Given the description of an element on the screen output the (x, y) to click on. 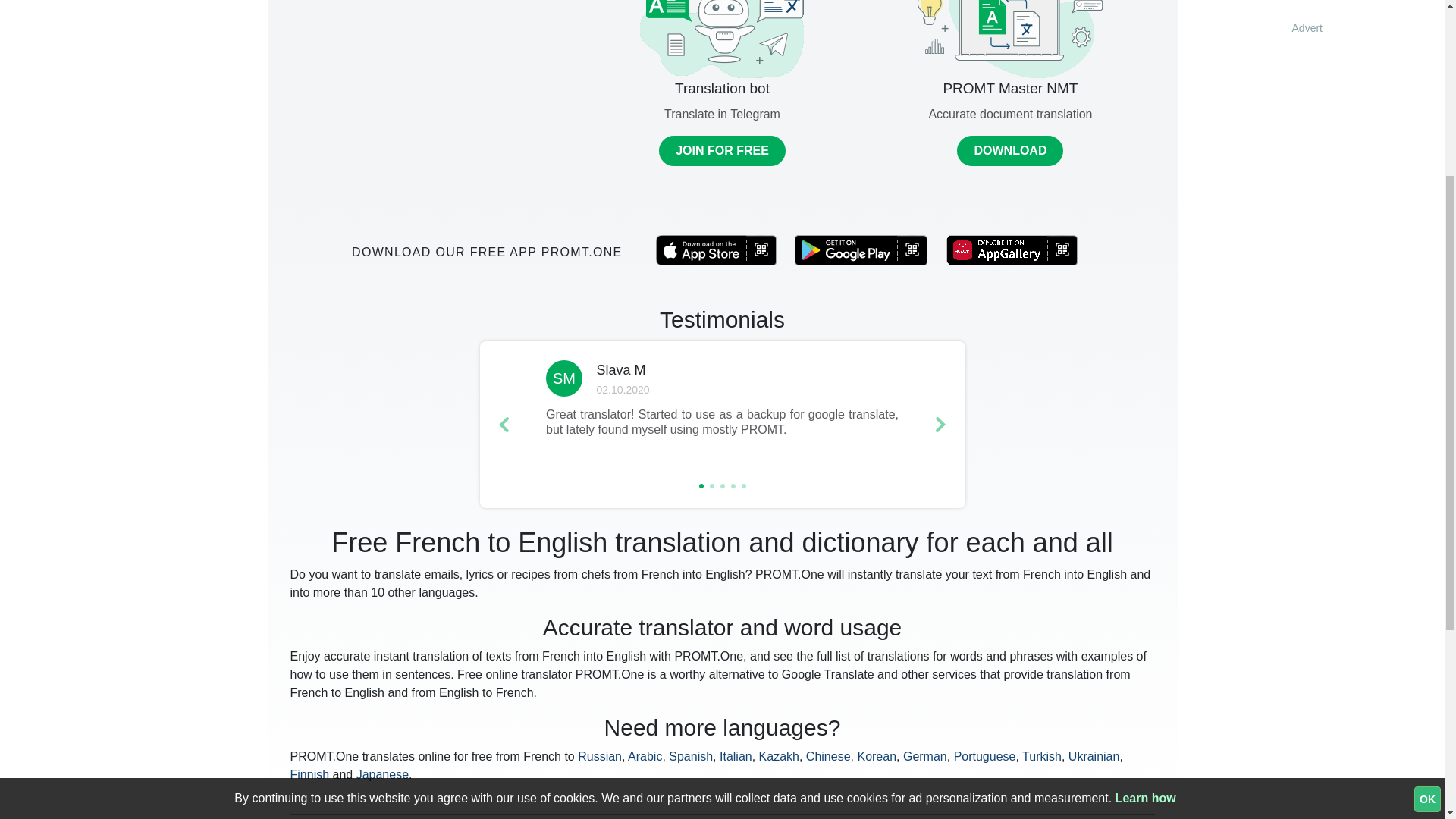
Translation bot (722, 88)
Translate in Telegram (721, 113)
DOWNLOAD (1009, 150)
Previous (503, 424)
PROMT Master NMT (1009, 88)
Accurate document translation (1010, 113)
JOIN FOR FREE (722, 150)
